Given the description of an element on the screen output the (x, y) to click on. 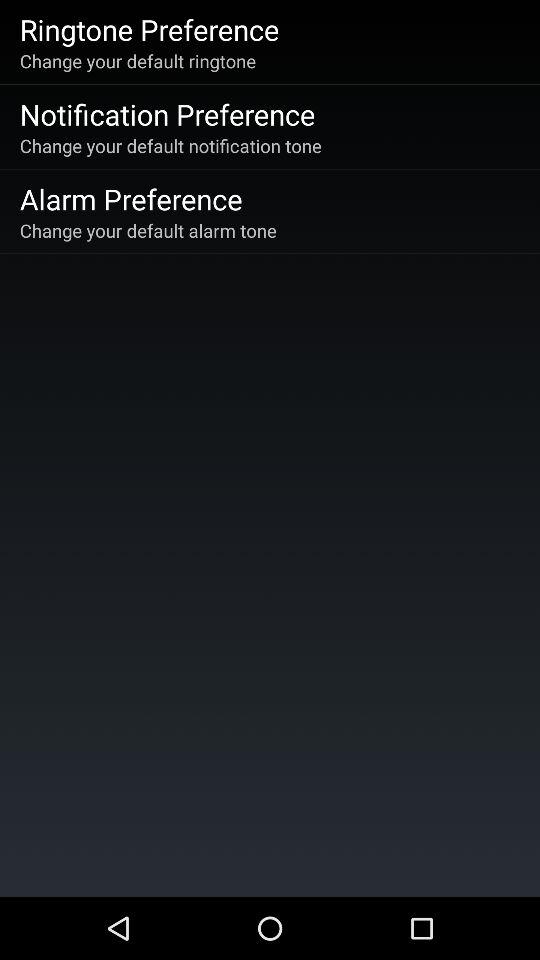
scroll until alarm preference app (130, 198)
